Given the description of an element on the screen output the (x, y) to click on. 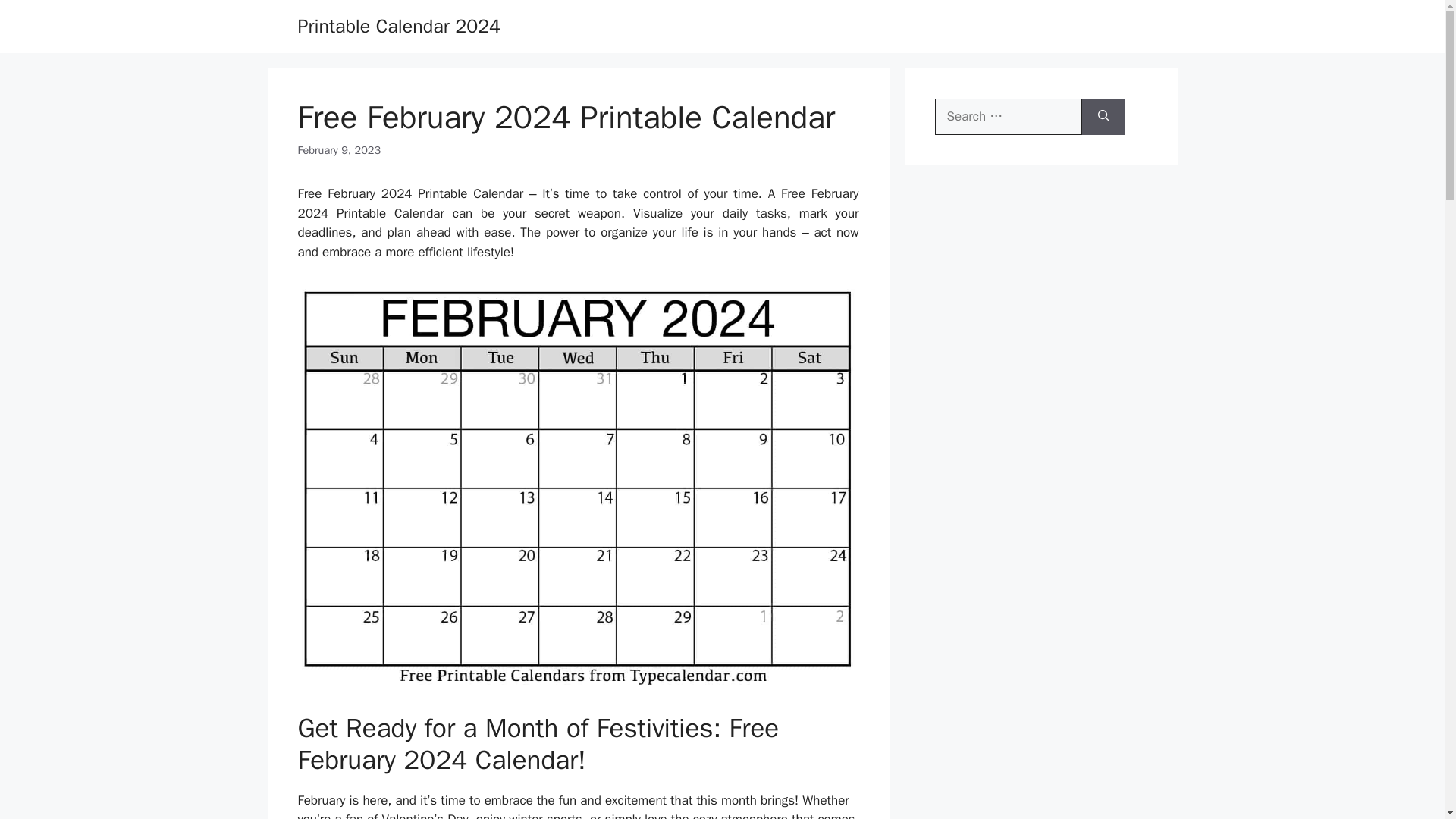
Printable Calendar 2024 (398, 25)
Search for: (1007, 116)
